Given the description of an element on the screen output the (x, y) to click on. 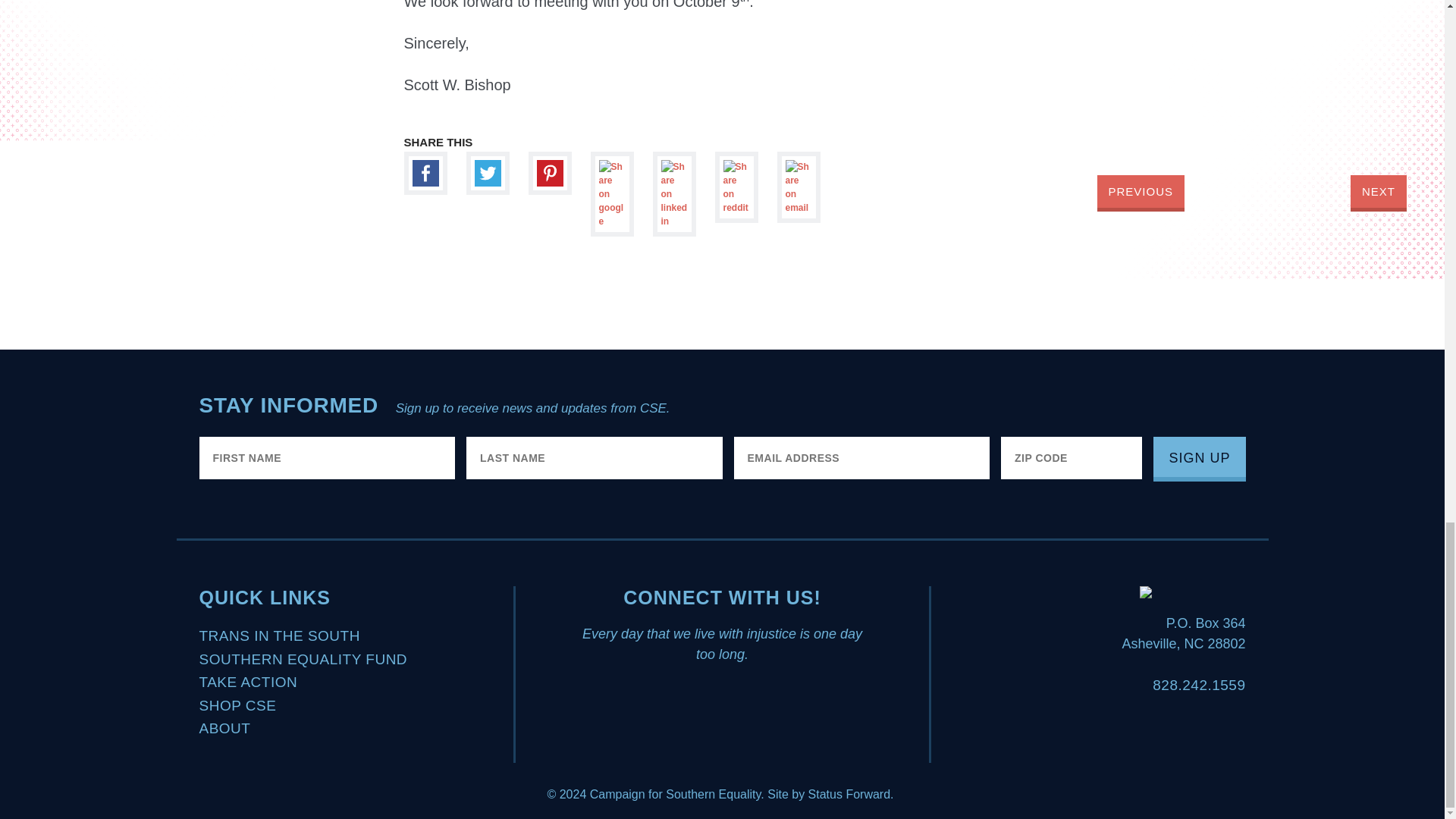
Sign up (1198, 458)
twitter (486, 172)
pinterest (548, 172)
facebook (424, 172)
